Given the description of an element on the screen output the (x, y) to click on. 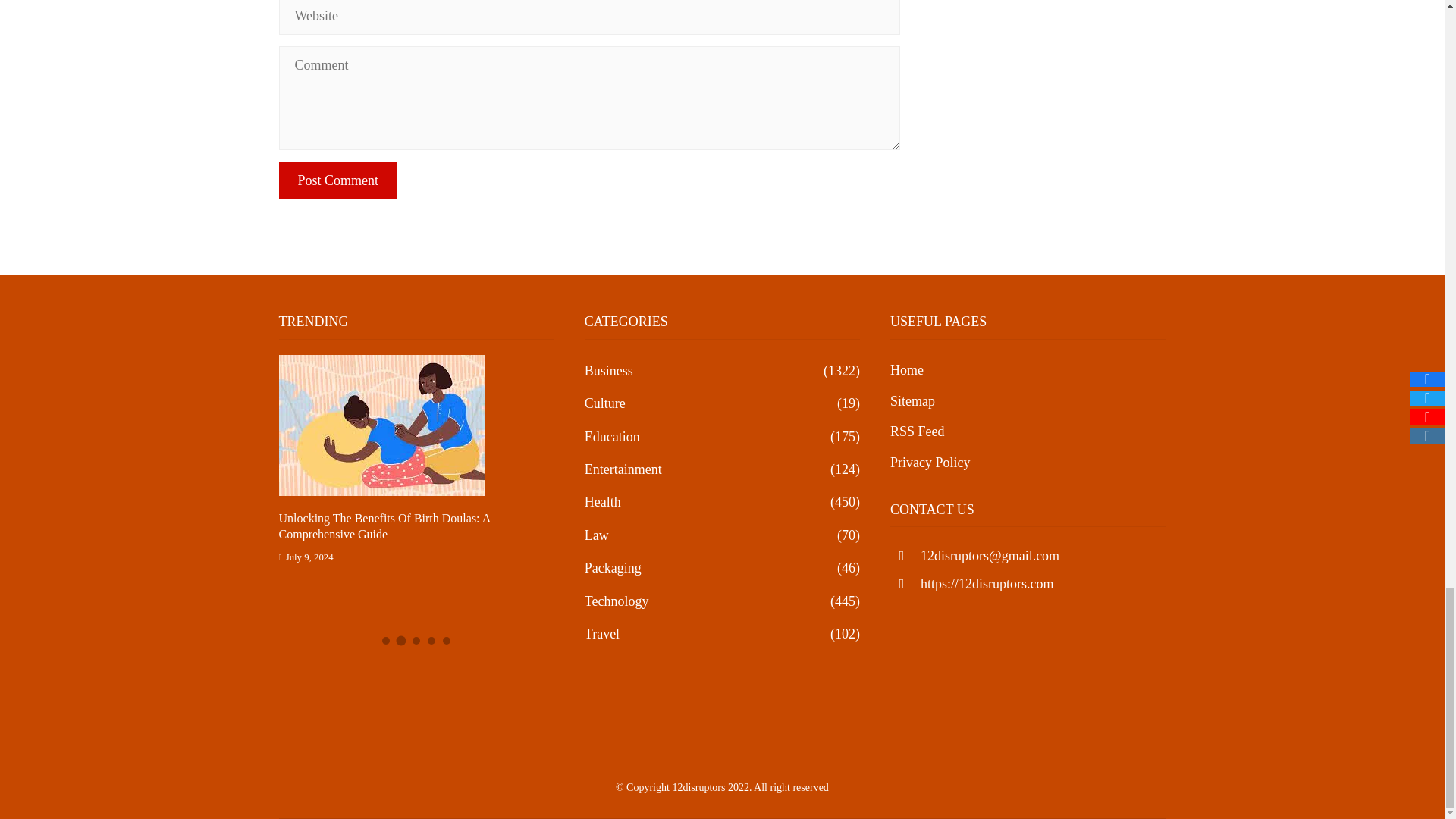
Post Comment (338, 180)
